Given the description of an element on the screen output the (x, y) to click on. 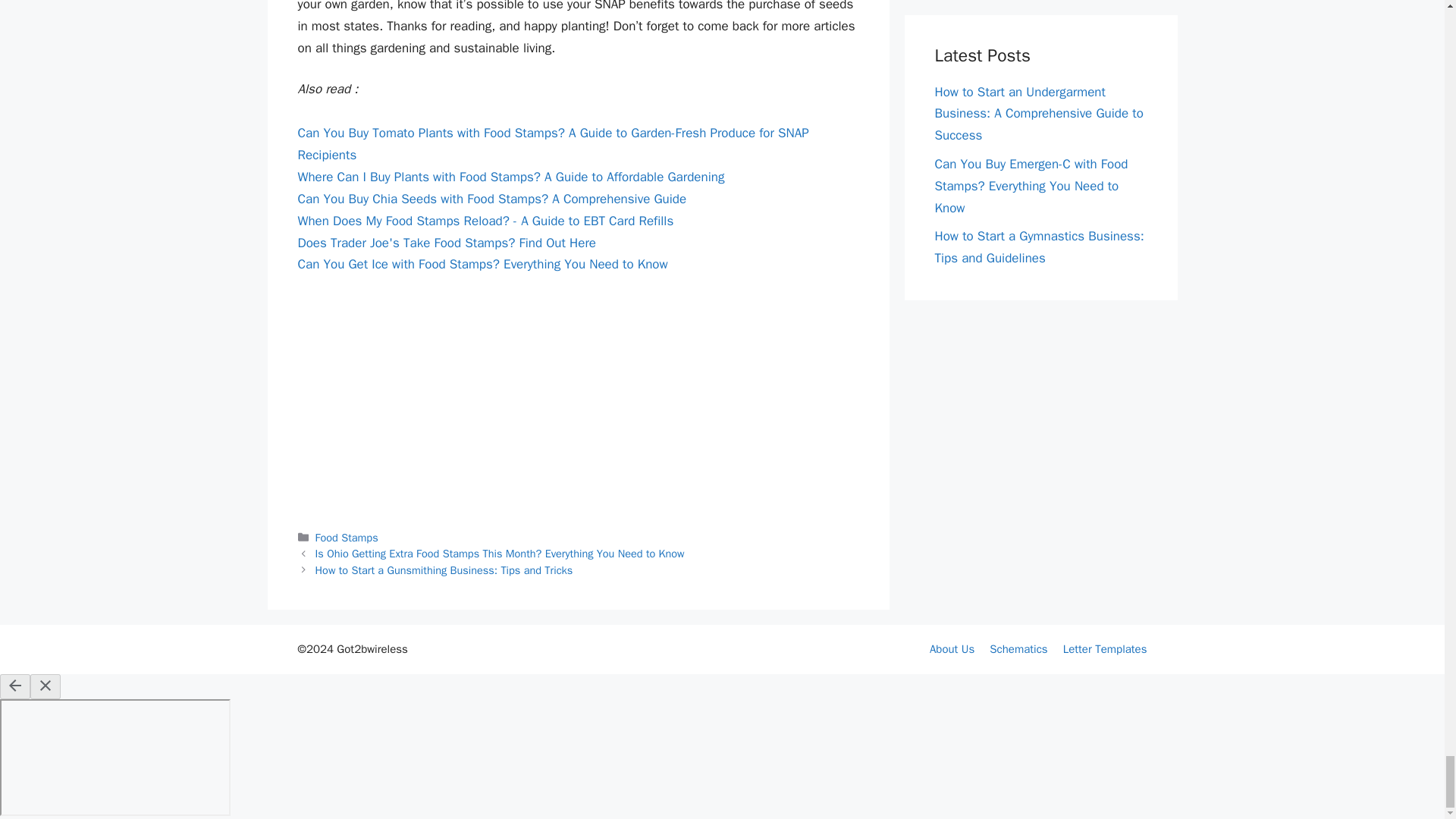
How to Start a Gunsmithing Business: Tips and Tricks (444, 570)
Does Trader Joe's Take Food Stamps? Find Out Here (446, 242)
About Us (952, 649)
Letter Templates (1104, 649)
